Given the description of an element on the screen output the (x, y) to click on. 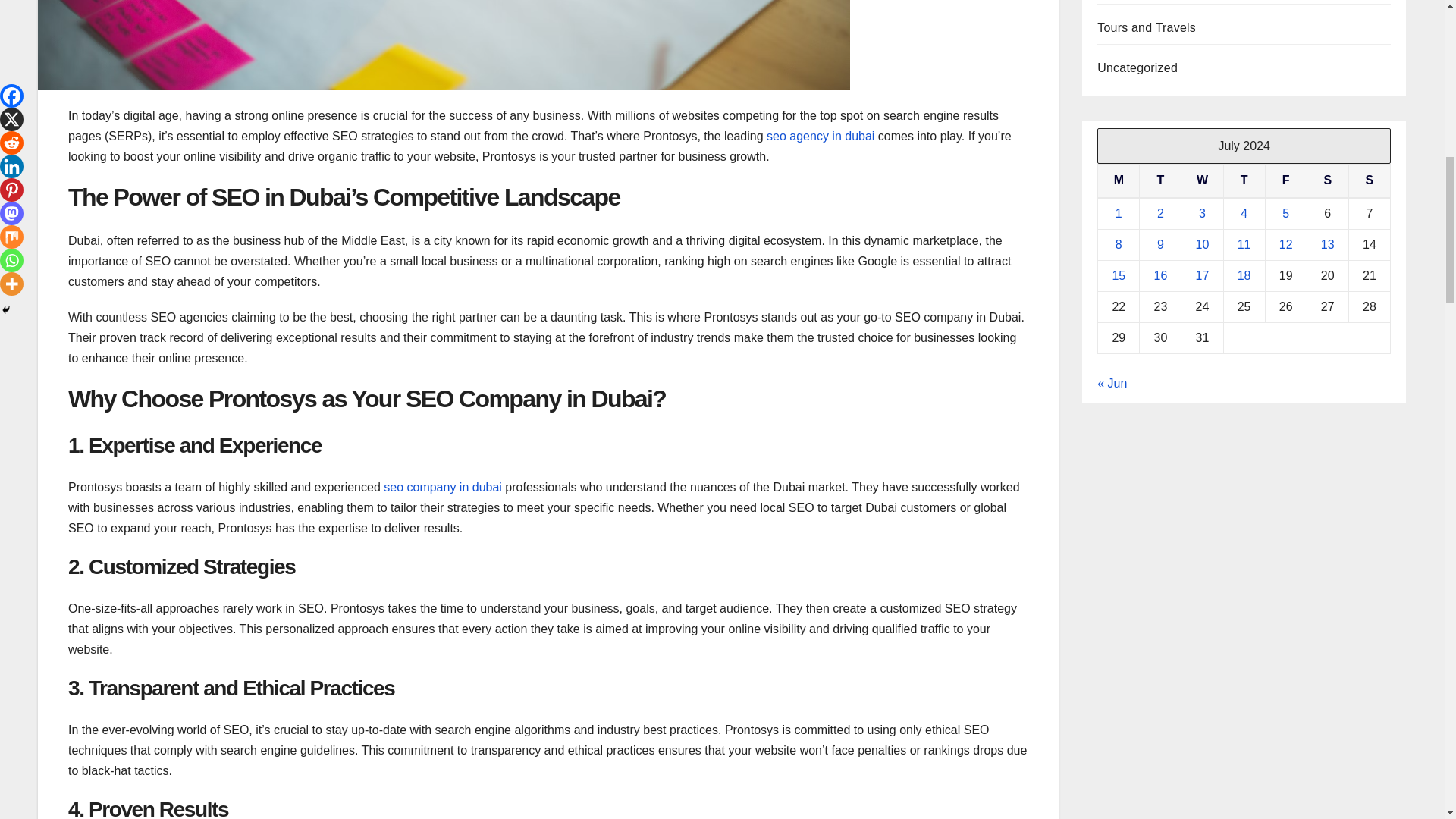
seo company in dubai (443, 486)
seo agency in dubai (821, 135)
